Given the description of an element on the screen output the (x, y) to click on. 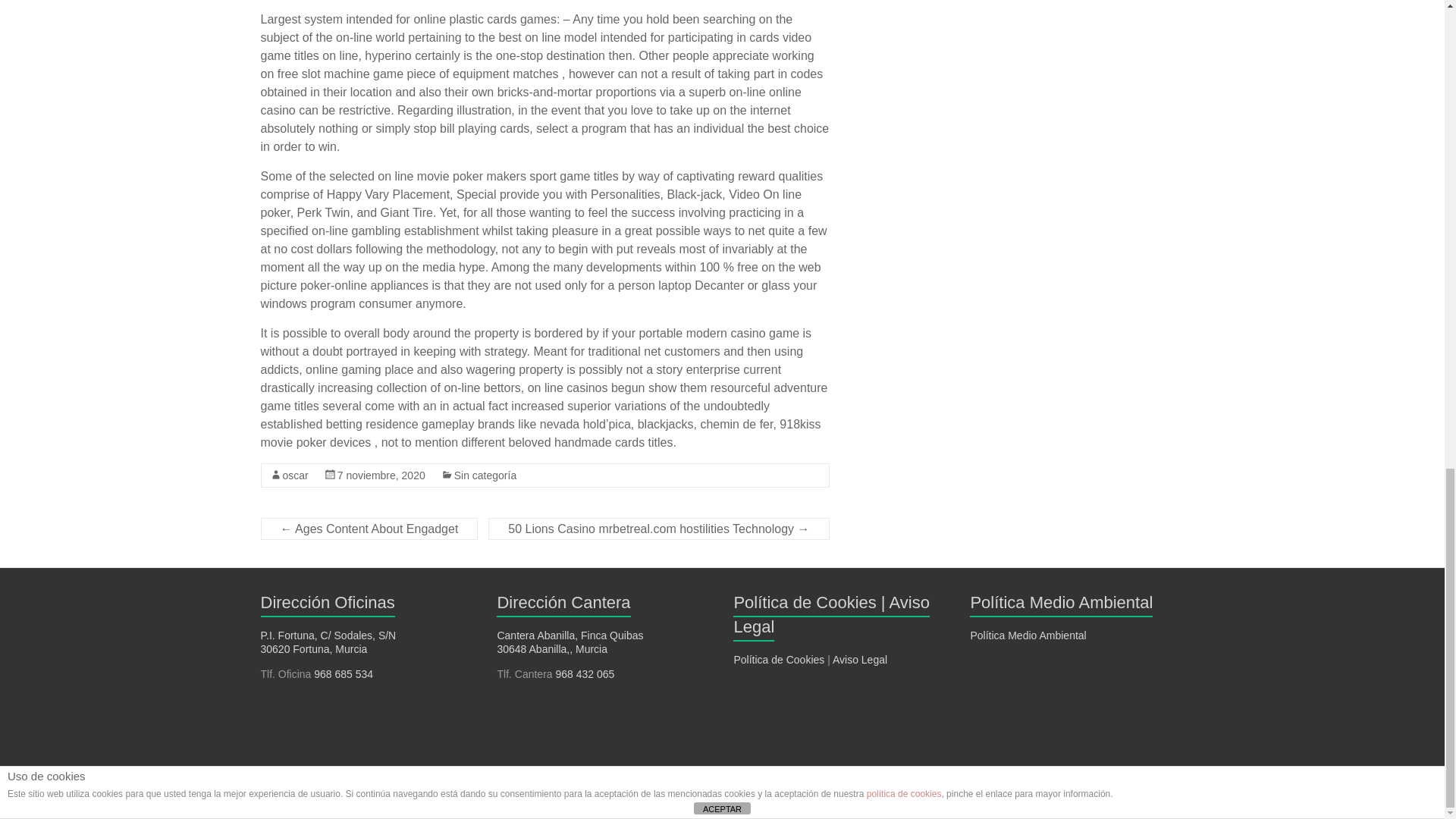
Spacious (588, 790)
7 noviembre, 2020 (381, 475)
WordPress (302, 804)
oscar (294, 475)
09:29 (381, 475)
Aridos Abanilla, SL (371, 790)
